Given the description of an element on the screen output the (x, y) to click on. 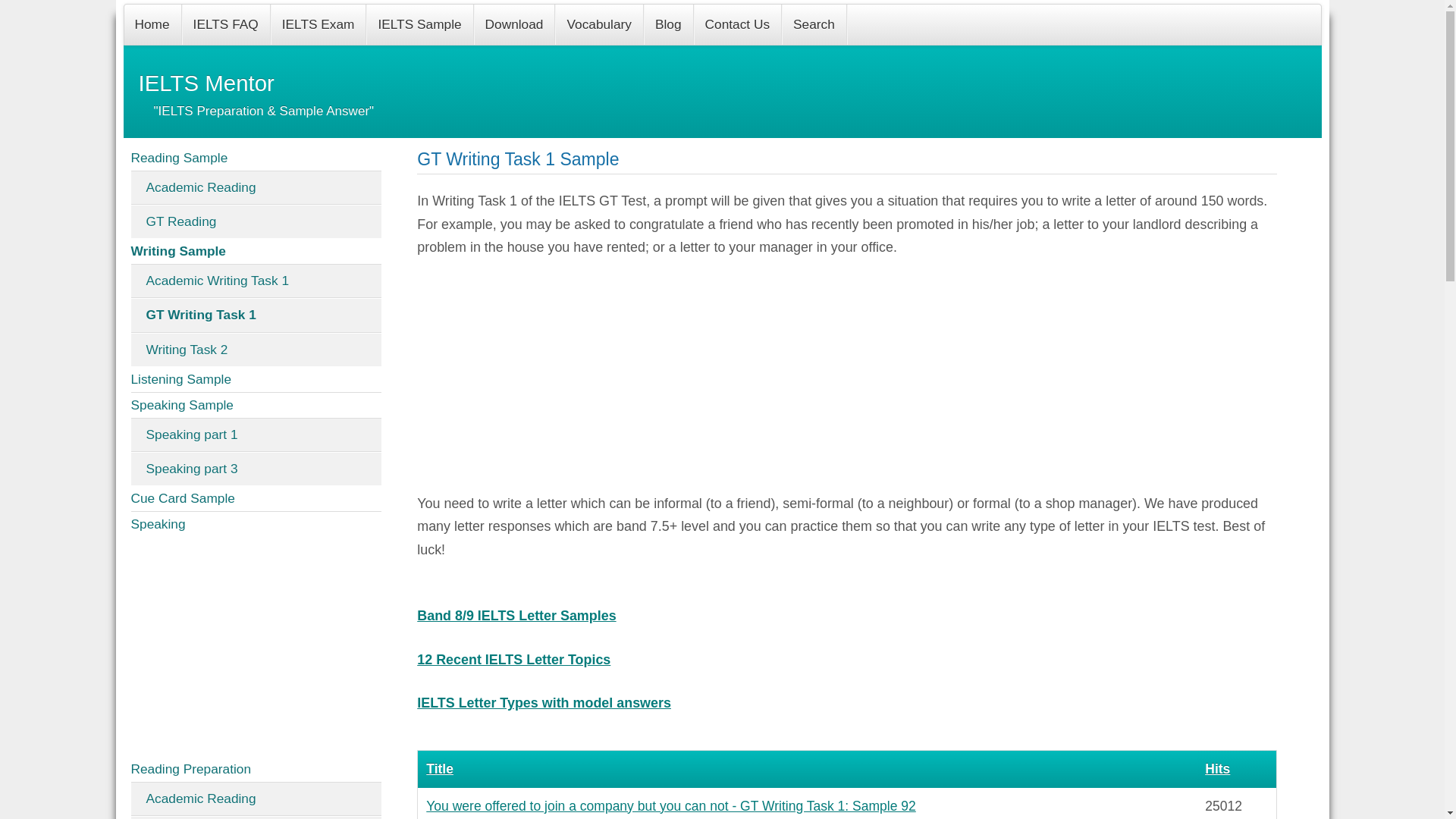
Writing Task 2 (256, 349)
IELTS Exam (318, 24)
Search (814, 24)
GT Writing Task 1 (256, 315)
IELTS FAQ (226, 24)
Reading Sample (256, 158)
Speaking part 1 (256, 435)
Listening Sample (256, 379)
Academic Reading (256, 187)
Advertisement (256, 647)
Writing Sample (256, 251)
Academic Writing Task 1 (256, 281)
Speaking (256, 524)
IELTS Sample (419, 24)
Blog (668, 24)
